Given the description of an element on the screen output the (x, y) to click on. 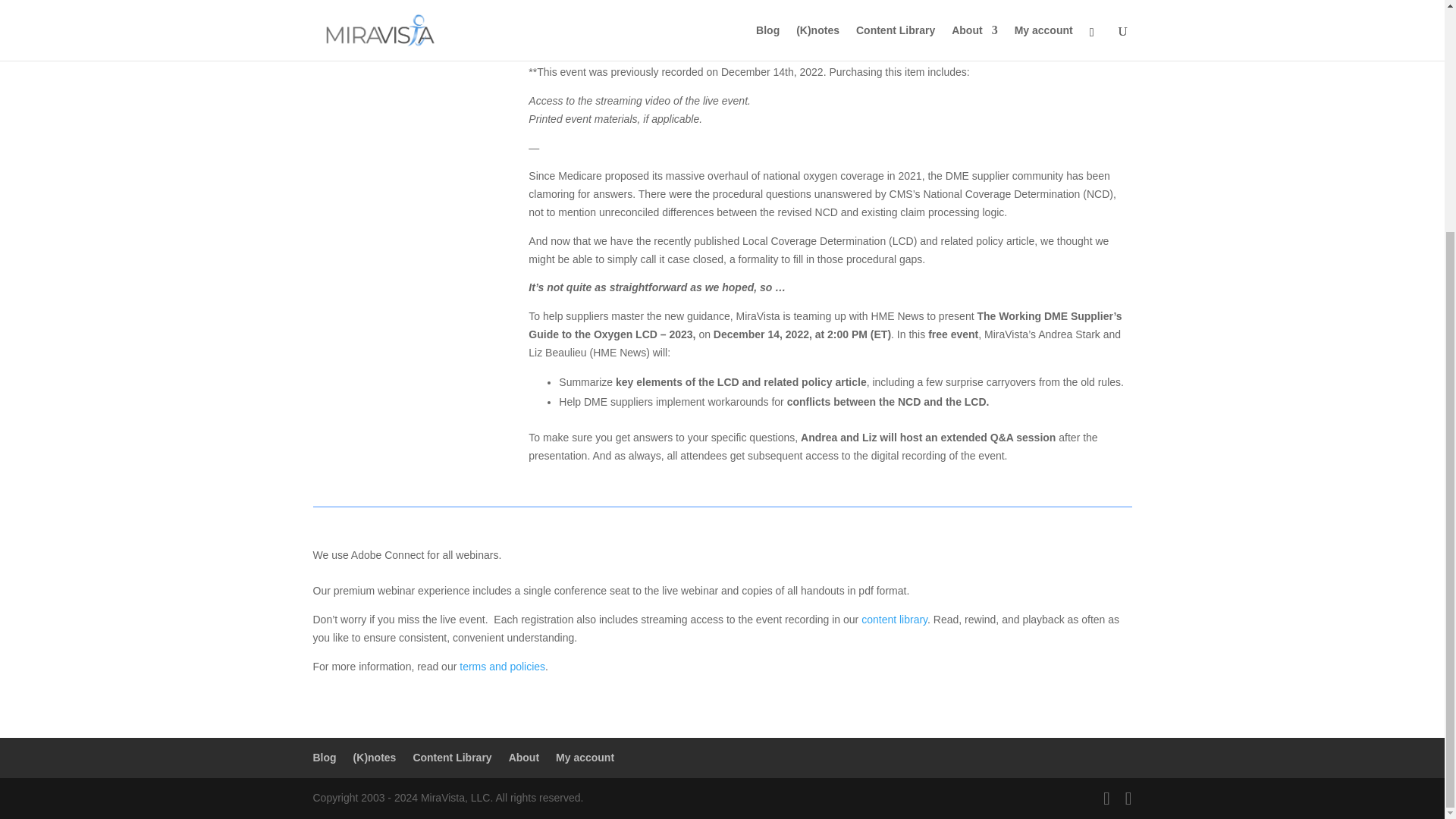
Blog (324, 757)
content library (894, 619)
terms and policies (502, 666)
Content Library (452, 757)
About (523, 757)
My account (585, 757)
